Given the description of an element on the screen output the (x, y) to click on. 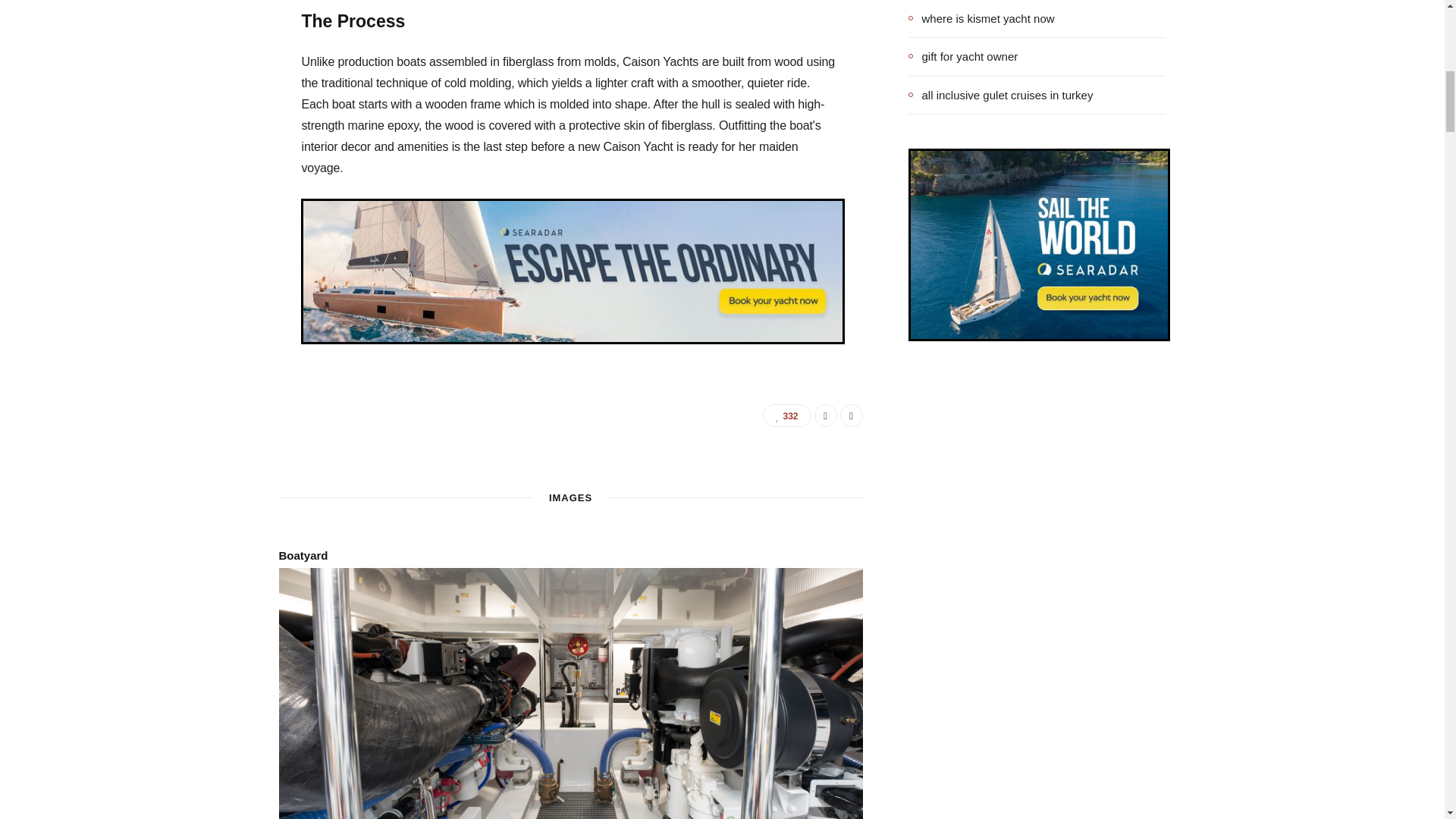
332 (786, 415)
where is kismet yacht now (981, 18)
Share on Facebook (825, 415)
gift for yacht owner (962, 56)
Share on Twitter (851, 415)
all inclusive gulet cruises in turkey (1000, 94)
